Given the description of an element on the screen output the (x, y) to click on. 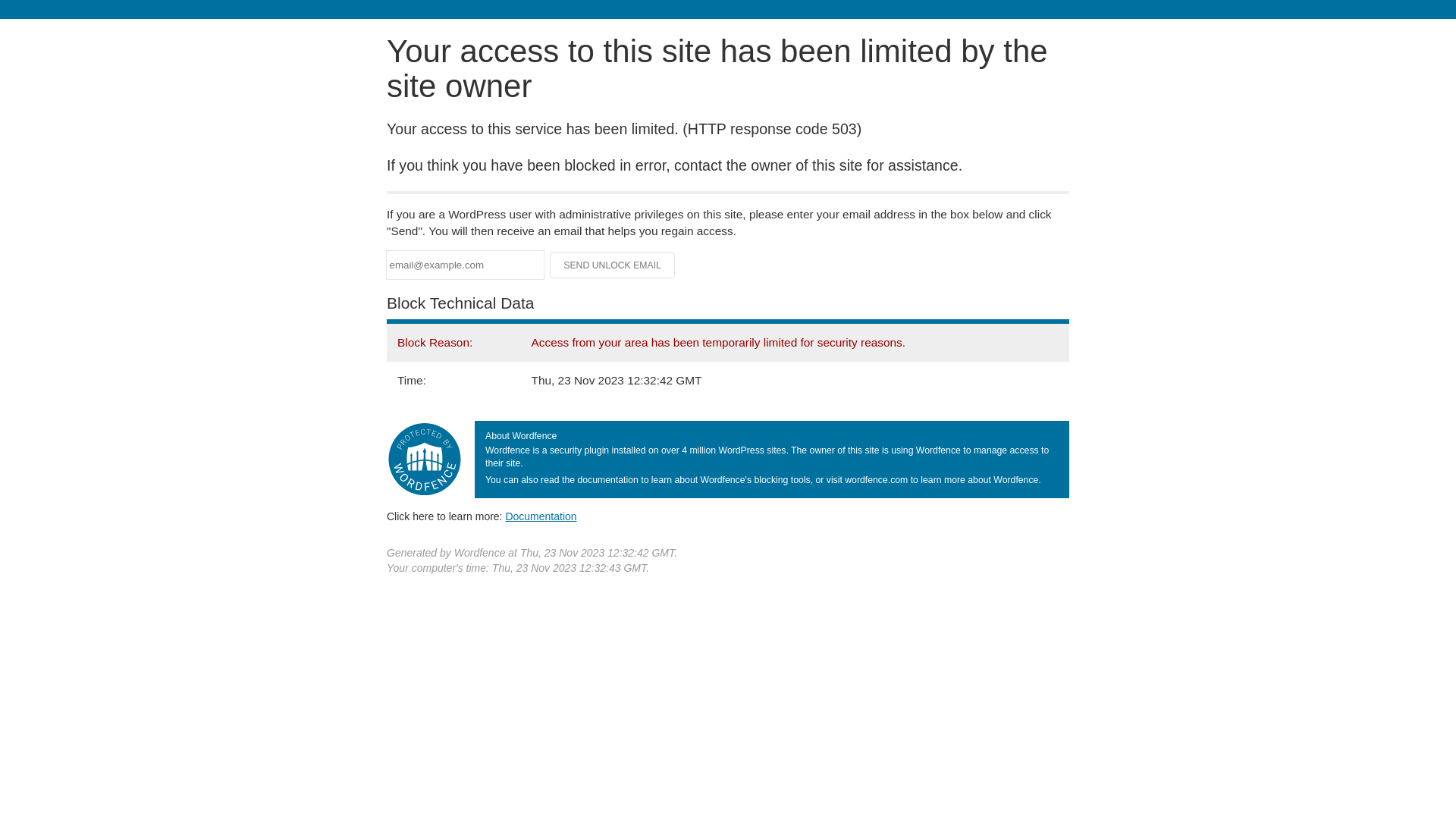
Documentation Element type: text (540, 516)
Send Unlock Email Element type: text (612, 265)
